Given the description of an element on the screen output the (x, y) to click on. 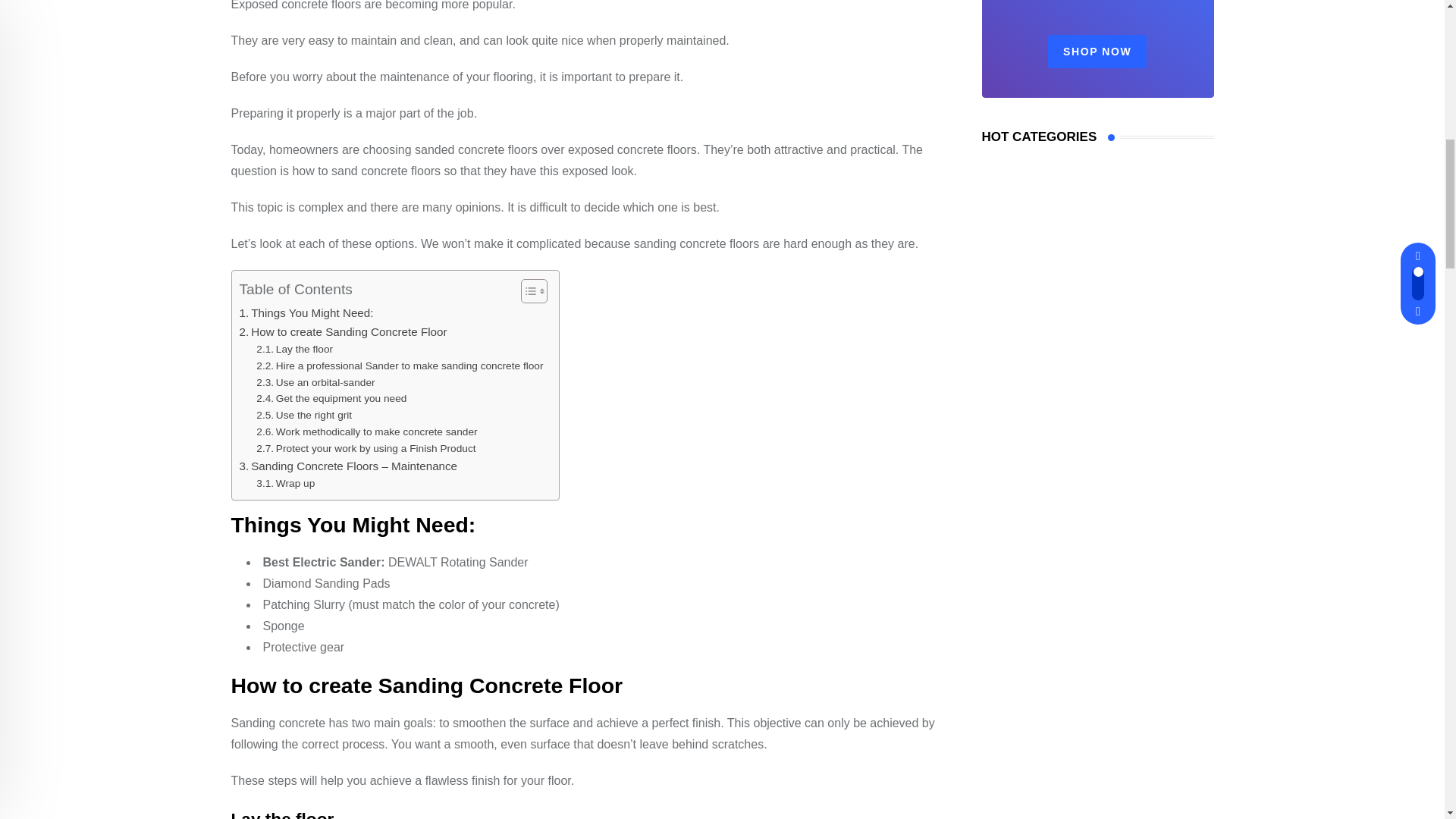
Use an orbital-sander (315, 382)
Lay the floor (294, 349)
Use the right grit (304, 415)
Work methodically to make concrete sander (366, 432)
Get the equipment you need (331, 398)
Hire a professional Sander to make sanding concrete floor (399, 365)
Things You Might Need: (307, 312)
How to create Sanding Concrete Floor (343, 331)
